Given the description of an element on the screen output the (x, y) to click on. 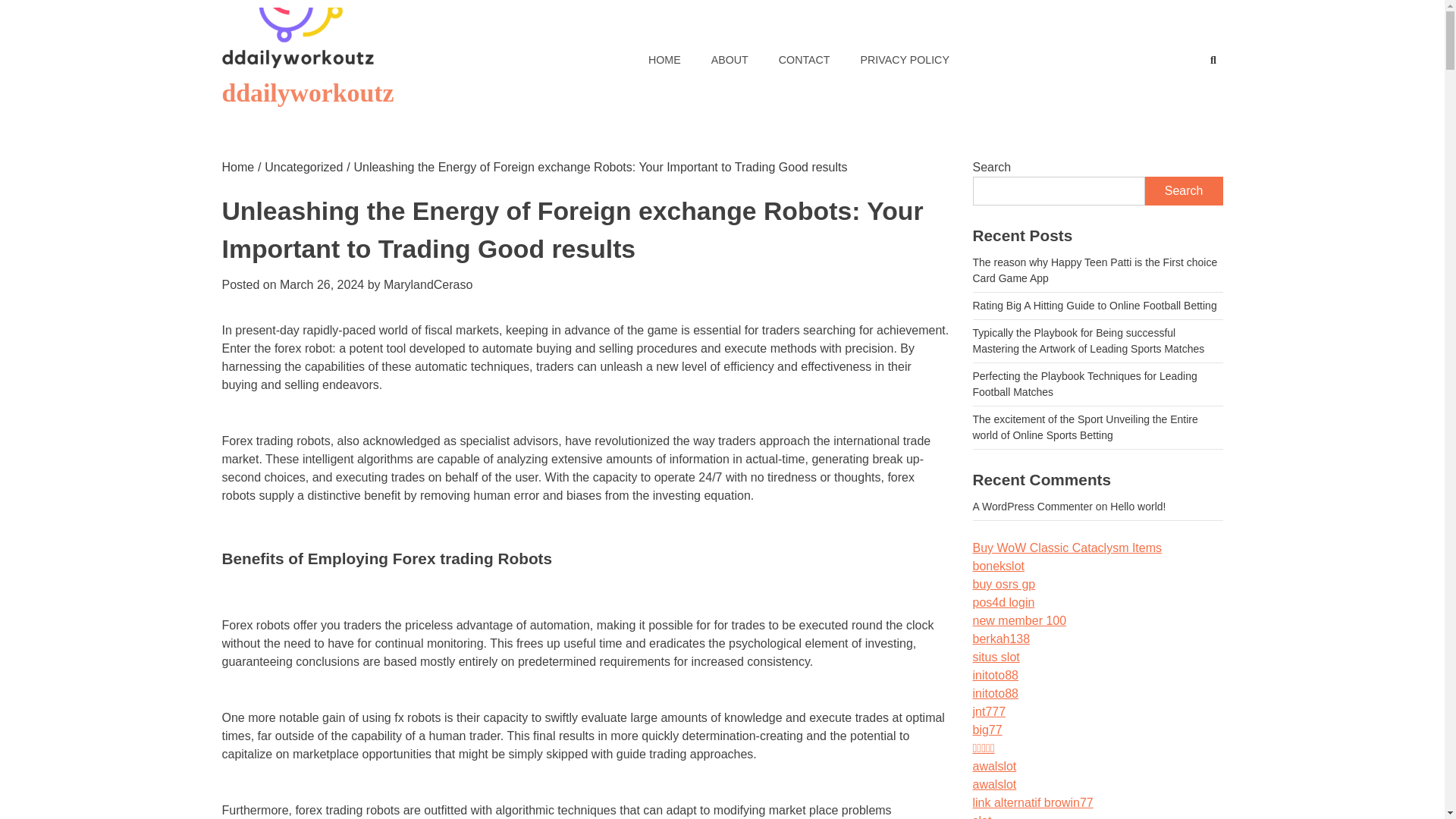
Search (1183, 94)
buy osrs gp (1003, 584)
HOME (664, 60)
Uncategorized (303, 166)
berkah138 (1000, 638)
Rating Big A Hitting Guide to Online Football Betting (1093, 305)
bonekslot (998, 565)
situs slot (995, 656)
Buy WoW Classic Cataclysm Items (1066, 547)
March 26, 2024 (321, 284)
Hello world! (1137, 506)
initoto88 (994, 675)
